Given the description of an element on the screen output the (x, y) to click on. 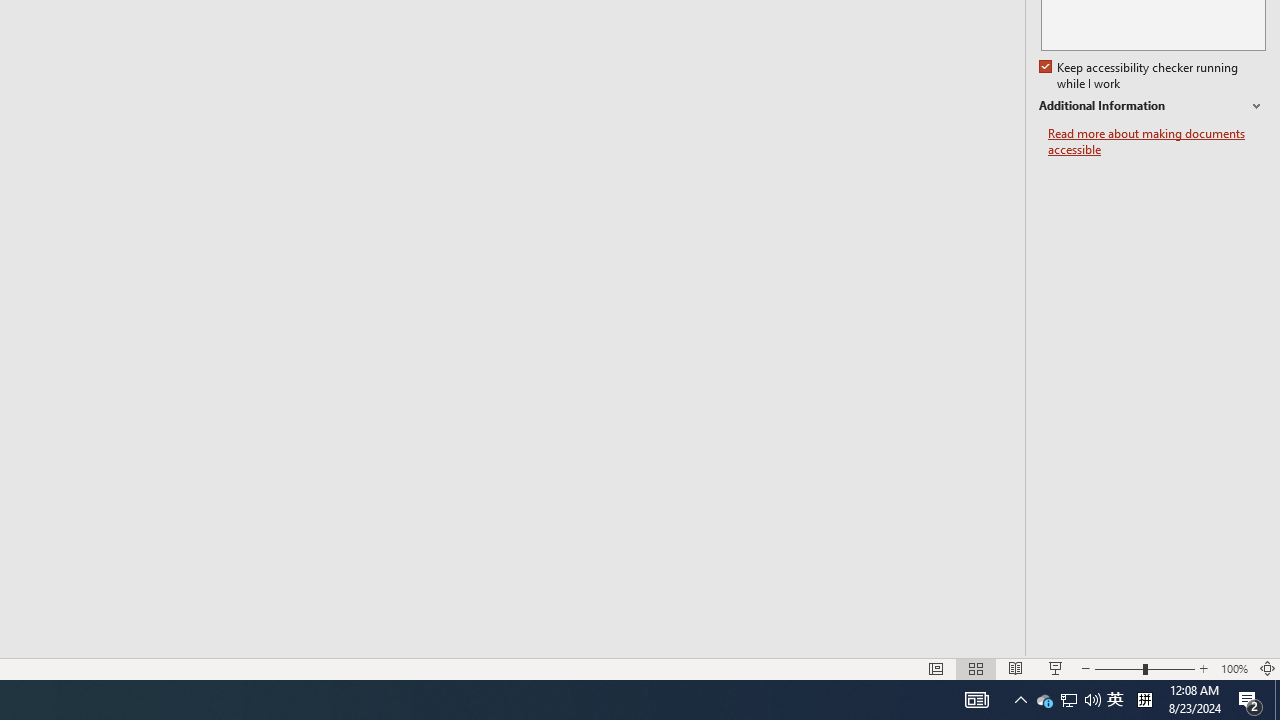
Zoom 100% (1234, 668)
